Given the description of an element on the screen output the (x, y) to click on. 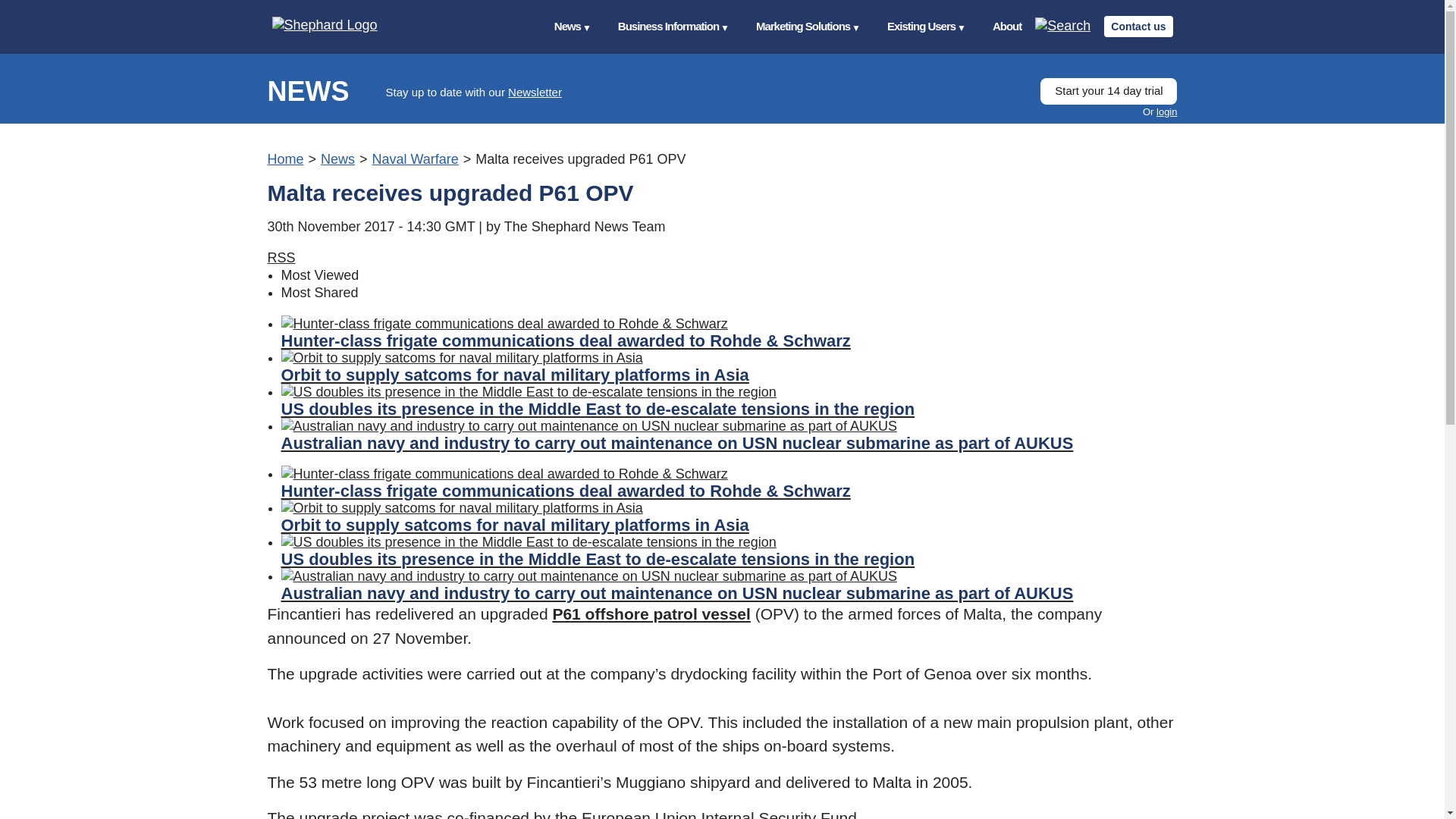
Shephard (338, 26)
Newsletter (535, 91)
Naval Warfare RSS Feed (280, 257)
Login (1166, 111)
Contact us (1137, 25)
Start a trial subscription (1108, 90)
login (1166, 111)
Start your 14 day trial (1108, 90)
Naval Warfare (414, 159)
About (1006, 27)
